Given the description of an element on the screen output the (x, y) to click on. 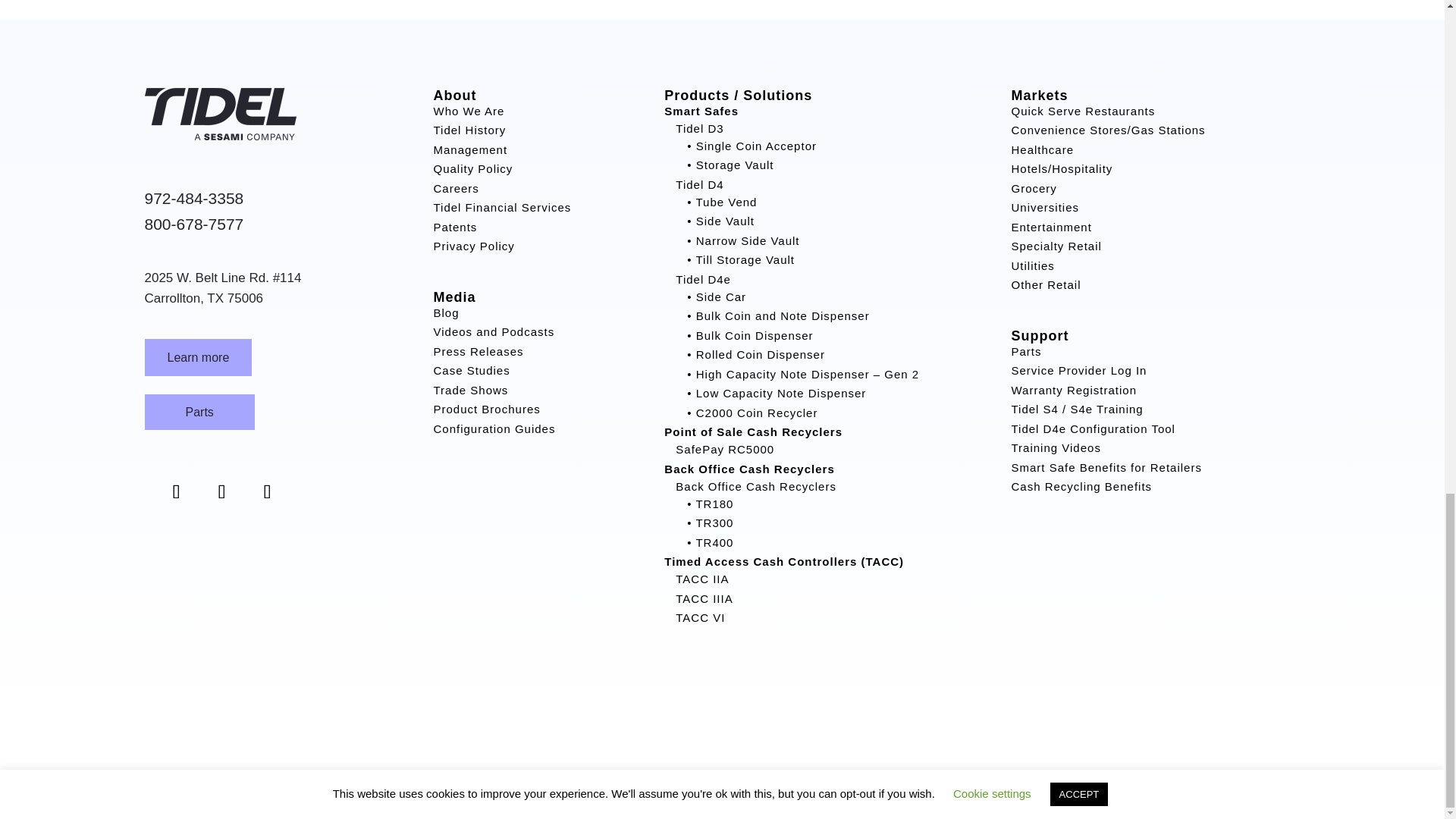
grd011-tidel-logo-web-03-220220 (219, 135)
Follow on LinkedIn (266, 491)
Follow on Instagram (221, 491)
Follow on X (175, 491)
